Given the description of an element on the screen output the (x, y) to click on. 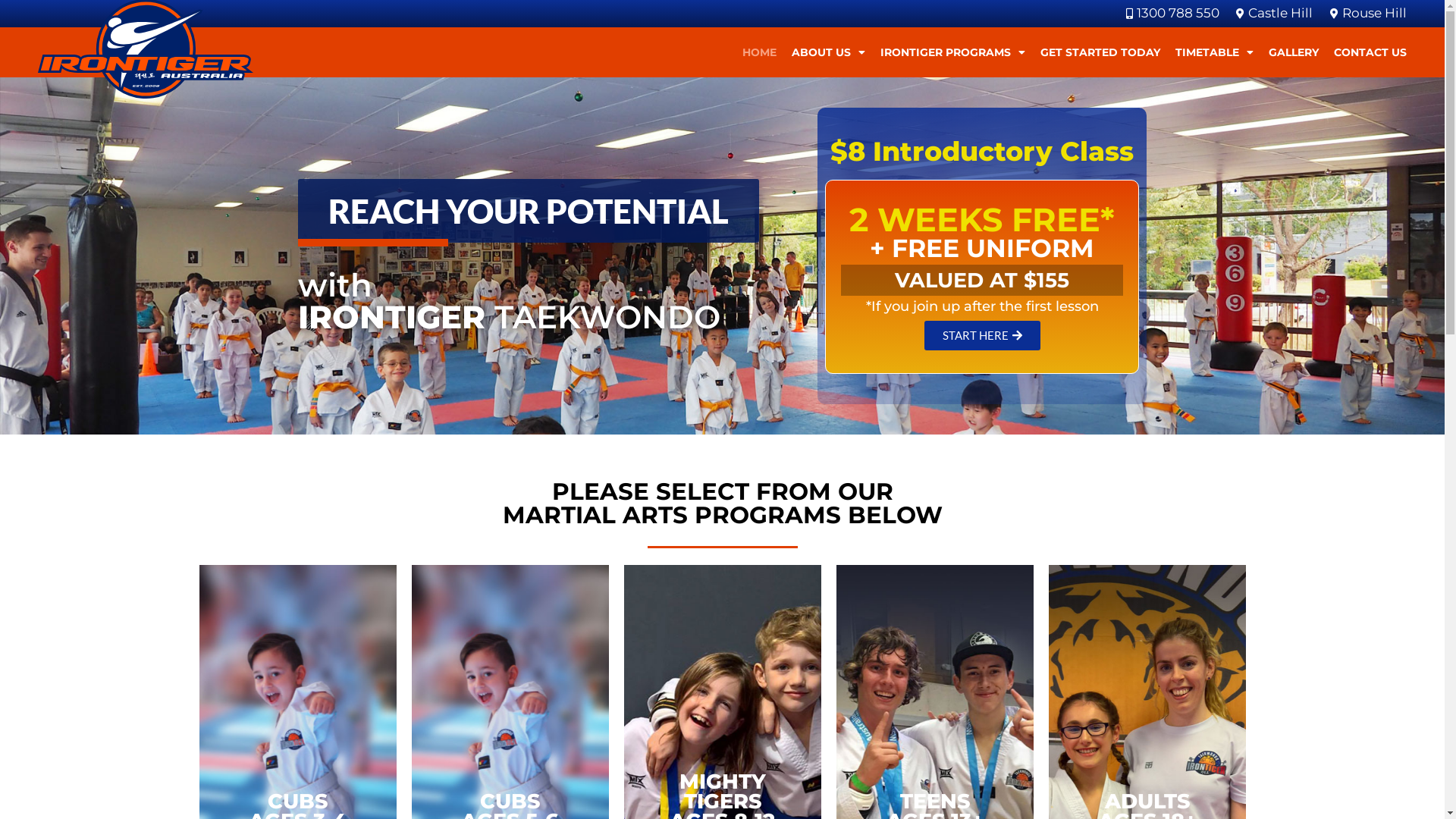
ABOUT US Element type: text (828, 51)
HOME Element type: text (759, 51)
REACH YOUR POTENTIAL Element type: text (527, 210)
Rouse Hill Element type: text (1365, 13)
START HERE Element type: text (982, 334)
TIMETABLE Element type: text (1214, 51)
GALLERY Element type: text (1293, 51)
Castle Hill Element type: text (1272, 13)
1300 788 550 Element type: text (1169, 13)
GET STARTED TODAY Element type: text (1100, 51)
CONTACT US Element type: text (1369, 51)
IRONTIGER PROGRAMS Element type: text (952, 51)
